Given the description of an element on the screen output the (x, y) to click on. 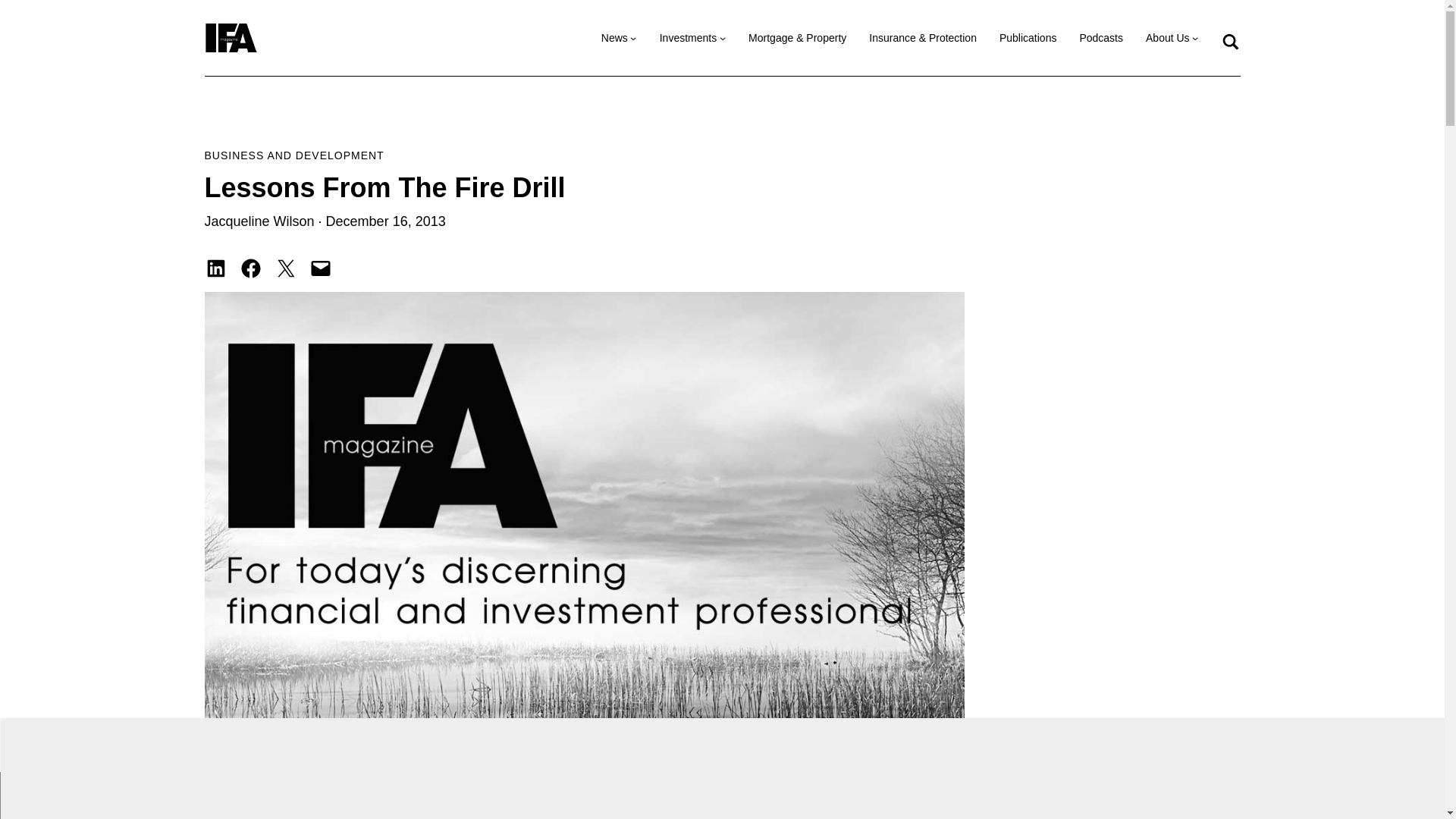
Jacqueline Wilson (259, 221)
News (614, 37)
Share on X (286, 268)
Share on LinkedIn (216, 268)
BUSINESS AND DEVELOPMENT (294, 155)
Investments (687, 37)
Publications (1027, 37)
Share on Facebook (251, 268)
Podcasts (1100, 37)
About Us (1167, 37)
Email this Page (319, 268)
